Given the description of an element on the screen output the (x, y) to click on. 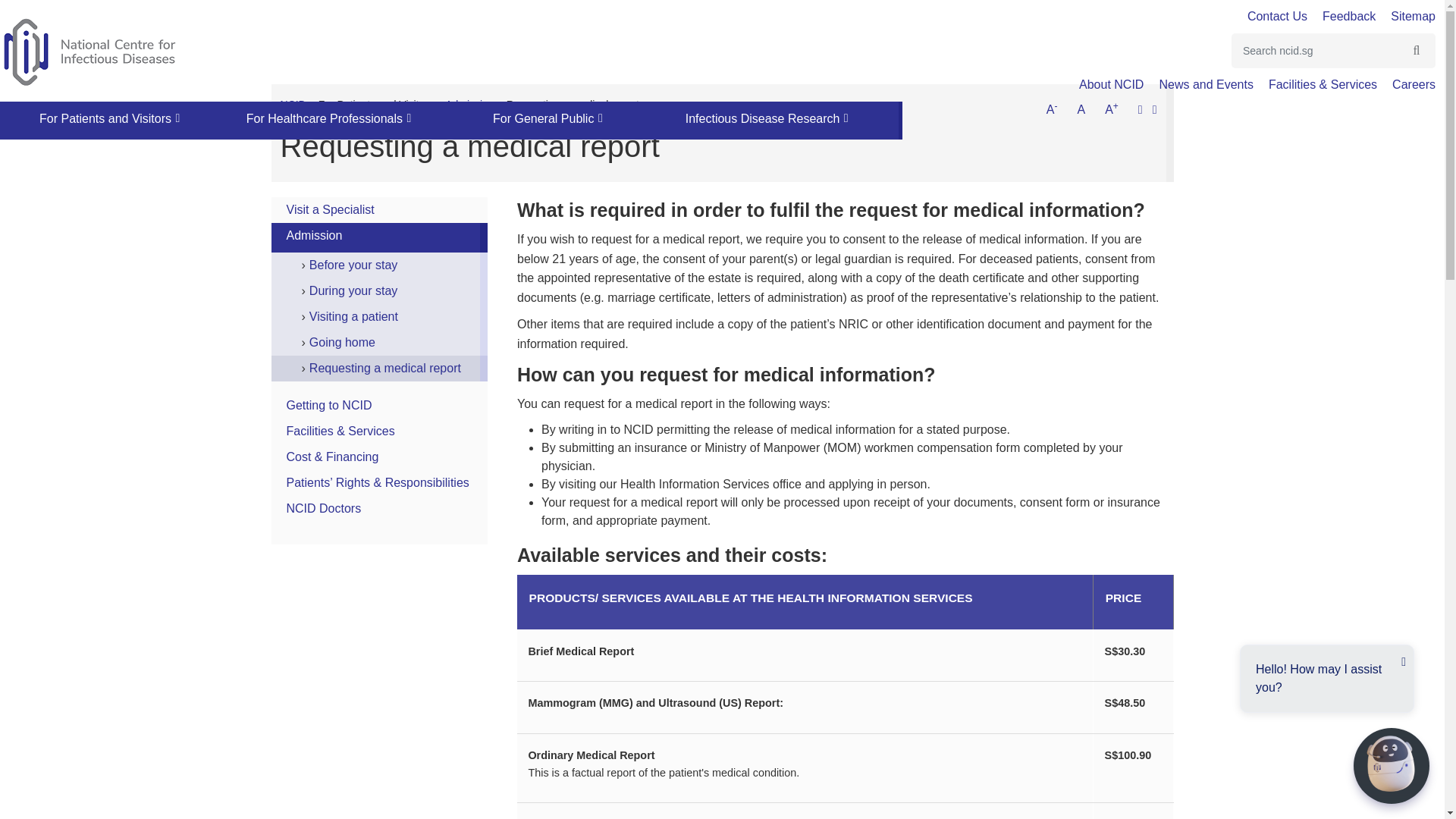
Default Font Size (1080, 109)
Feedback (1341, 15)
During your stay (352, 290)
For Patients and Visitors (106, 117)
Careers (1406, 83)
Before your stay (352, 264)
Admission (314, 235)
Admission desc (470, 104)
Increase Font Size (1111, 109)
For Healthcare Professionals (326, 117)
